Given the description of an element on the screen output the (x, y) to click on. 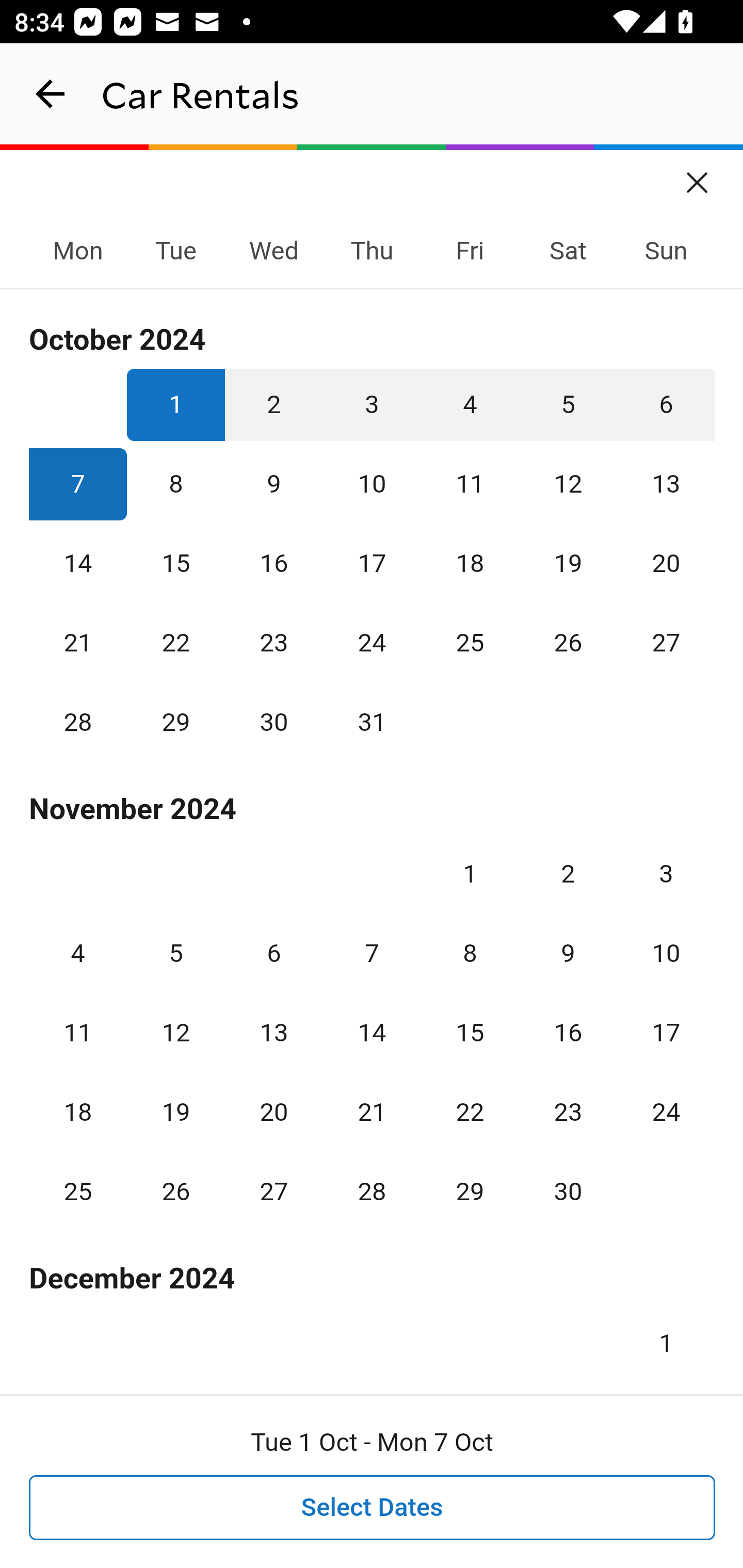
navigation_button (50, 93)
Close (697, 176)
1 October 2024 (175, 404)
2 October 2024 (273, 404)
3 October 2024 (371, 404)
4 October 2024 (470, 404)
5 October 2024 (567, 404)
6 October 2024 (665, 404)
7 October 2024 (77, 484)
8 October 2024 (175, 484)
9 October 2024 (273, 484)
10 October 2024 (371, 484)
11 October 2024 (470, 484)
12 October 2024 (567, 484)
13 October 2024 (665, 484)
14 October 2024 (77, 563)
15 October 2024 (175, 563)
16 October 2024 (273, 563)
17 October 2024 (371, 563)
18 October 2024 (470, 563)
19 October 2024 (567, 563)
20 October 2024 (665, 563)
21 October 2024 (77, 642)
22 October 2024 (175, 642)
23 October 2024 (273, 642)
24 October 2024 (371, 642)
25 October 2024 (470, 642)
26 October 2024 (567, 642)
27 October 2024 (665, 642)
28 October 2024 (77, 722)
29 October 2024 (175, 722)
30 October 2024 (273, 722)
31 October 2024 (371, 722)
1 November 2024 (470, 873)
2 November 2024 (567, 873)
3 November 2024 (665, 873)
4 November 2024 (77, 952)
5 November 2024 (175, 952)
6 November 2024 (273, 952)
7 November 2024 (371, 952)
8 November 2024 (470, 952)
9 November 2024 (567, 952)
10 November 2024 (665, 952)
11 November 2024 (77, 1032)
12 November 2024 (175, 1032)
13 November 2024 (273, 1032)
14 November 2024 (371, 1032)
15 November 2024 (470, 1032)
16 November 2024 (567, 1032)
17 November 2024 (665, 1032)
18 November 2024 (77, 1112)
19 November 2024 (175, 1112)
20 November 2024 (273, 1112)
21 November 2024 (371, 1112)
22 November 2024 (470, 1112)
23 November 2024 (567, 1112)
24 November 2024 (665, 1112)
25 November 2024 (77, 1191)
26 November 2024 (175, 1191)
27 November 2024 (273, 1191)
28 November 2024 (371, 1191)
29 November 2024 (470, 1191)
30 November 2024 (567, 1191)
1 December 2024 (665, 1336)
Select Dates (372, 1508)
